Given the description of an element on the screen output the (x, y) to click on. 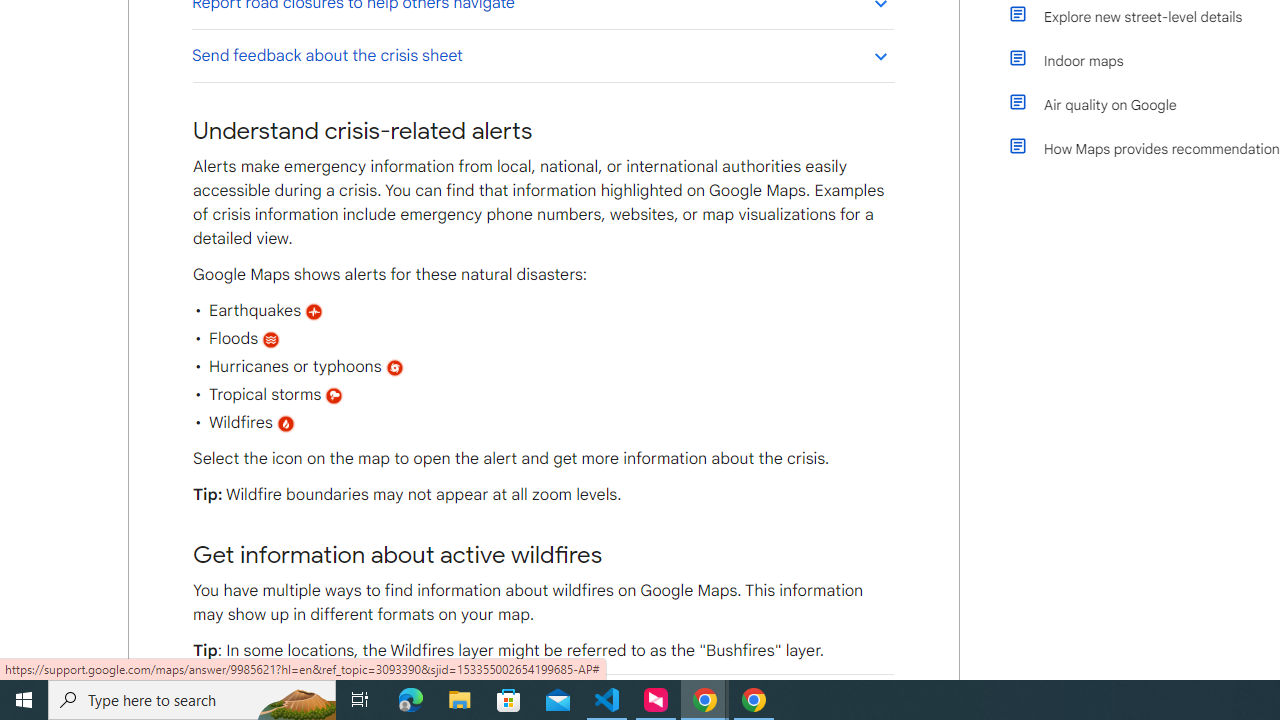
Send feedback about the crisis sheet (542, 55)
